Given the description of an element on the screen output the (x, y) to click on. 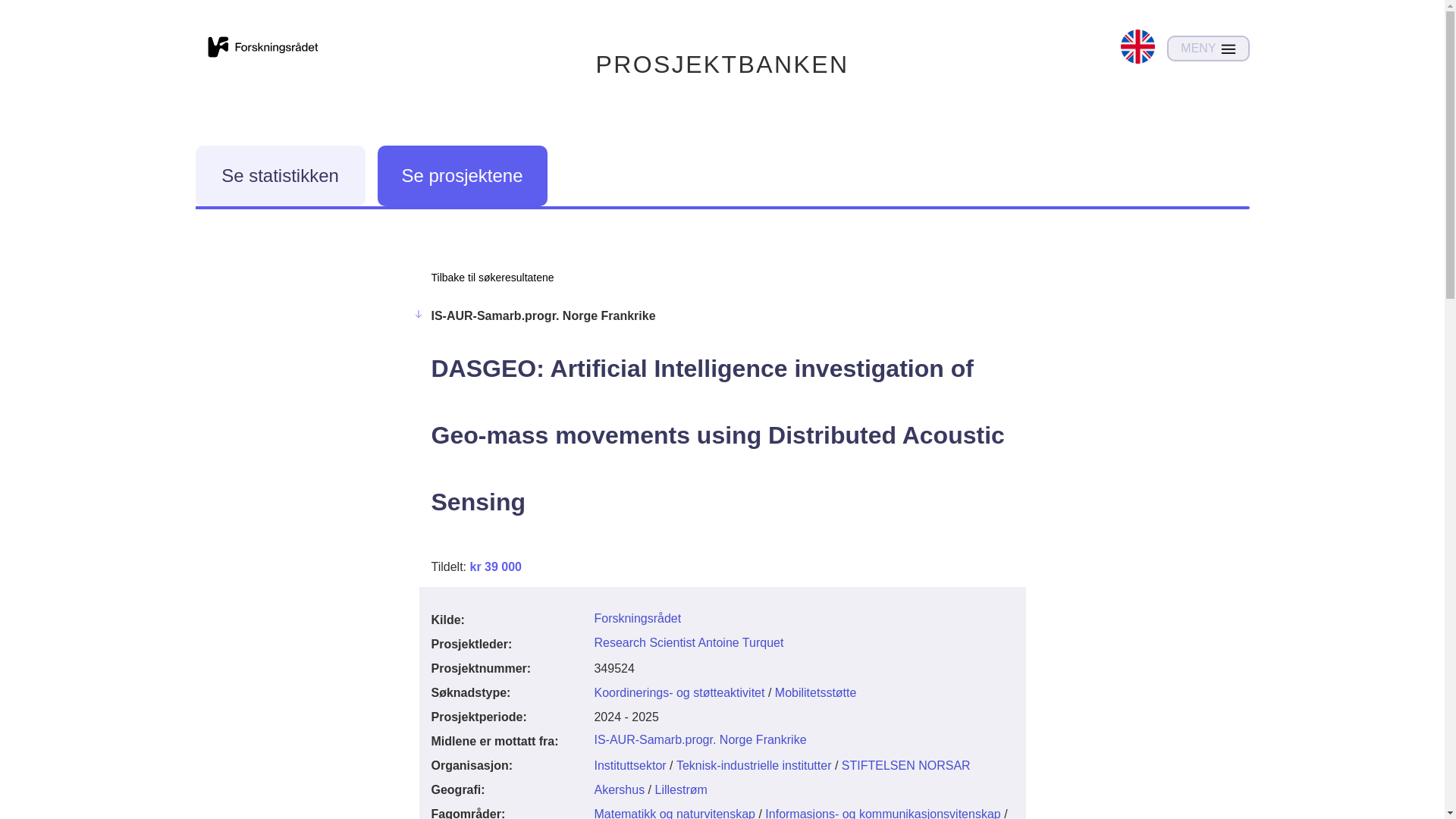
Research Scientist Antoine Turquet (688, 642)
Teknisk-industrielle institutter (754, 765)
IS-AUR-Samarb.progr. Norge Frankrike (700, 739)
Se prosjektene (462, 175)
Instituttsektor (629, 765)
PROSJEKTBANKEN (721, 64)
STIFTELSEN NORSAR (906, 765)
Informasjons- og kommunikasjonsvitenskap (882, 813)
MENY (1208, 48)
Matematikk og naturvitenskap (674, 813)
Se statistikken (280, 175)
Akershus (619, 789)
